Given the description of an element on the screen output the (x, y) to click on. 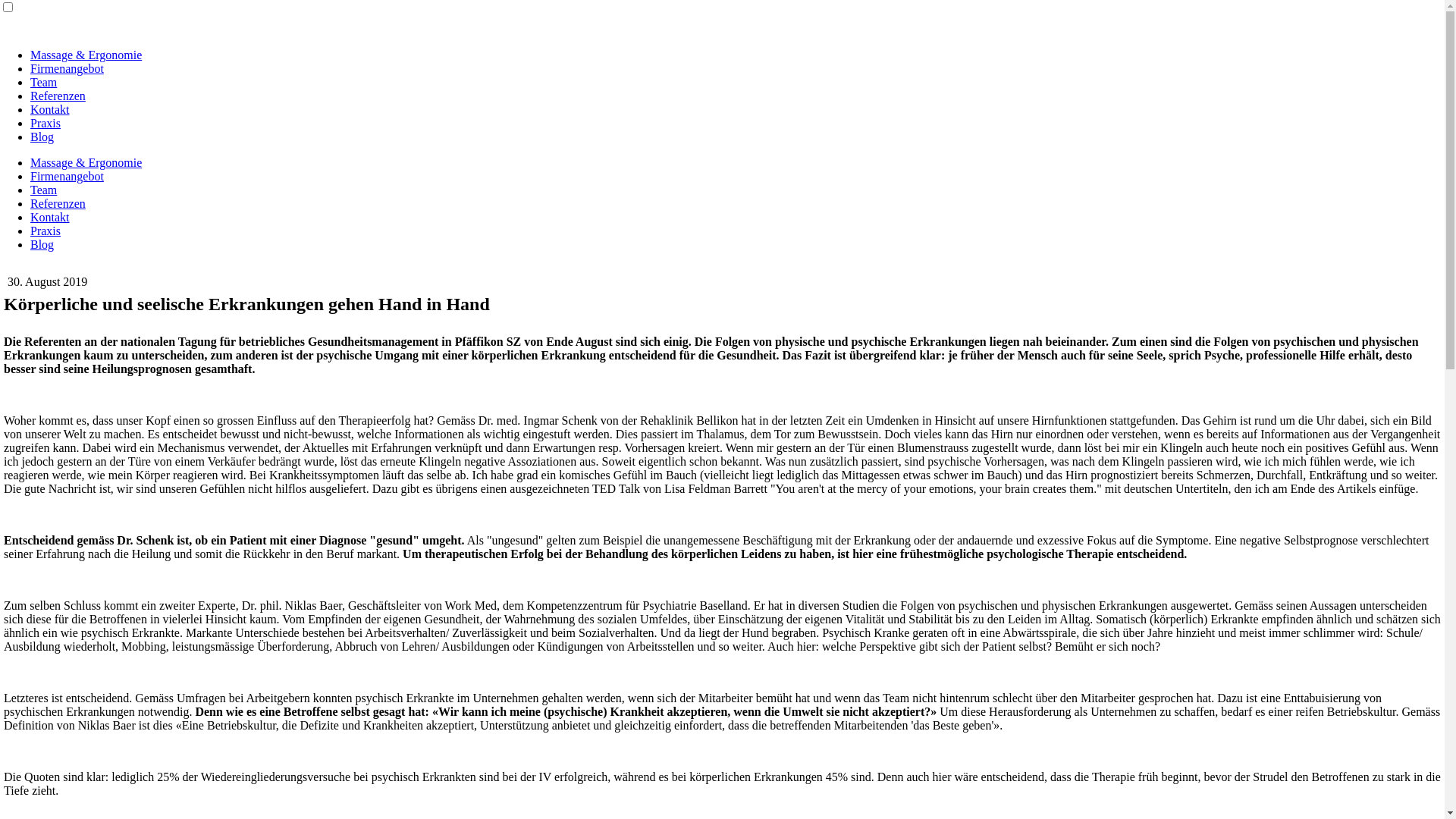
Team Element type: text (43, 81)
Team Element type: text (43, 189)
Referenzen Element type: text (57, 95)
Massage & Ergonomie Element type: text (85, 162)
Blog Element type: text (41, 244)
Firmenangebot Element type: text (66, 175)
Massage & Ergonomie Element type: text (85, 54)
Praxis Element type: text (45, 230)
Kontakt Element type: text (49, 216)
Firmenangebot Element type: text (66, 68)
Praxis Element type: text (45, 122)
Blog Element type: text (41, 136)
Referenzen Element type: text (57, 203)
Kontakt Element type: text (49, 109)
